Given the description of an element on the screen output the (x, y) to click on. 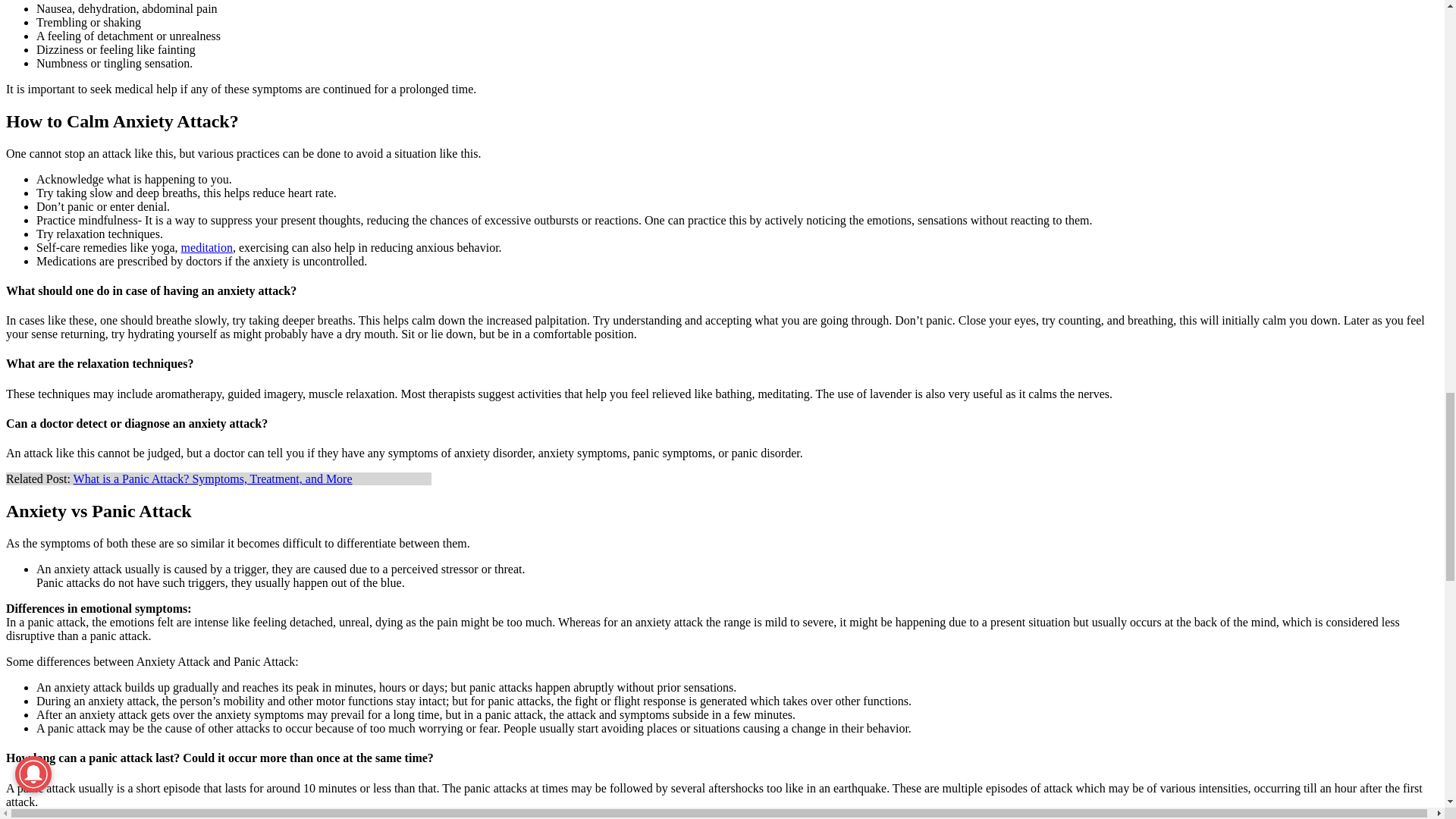
meditation (206, 246)
What is a Panic Attack? Symptoms, Treatment, and More (213, 478)
